Given the description of an element on the screen output the (x, y) to click on. 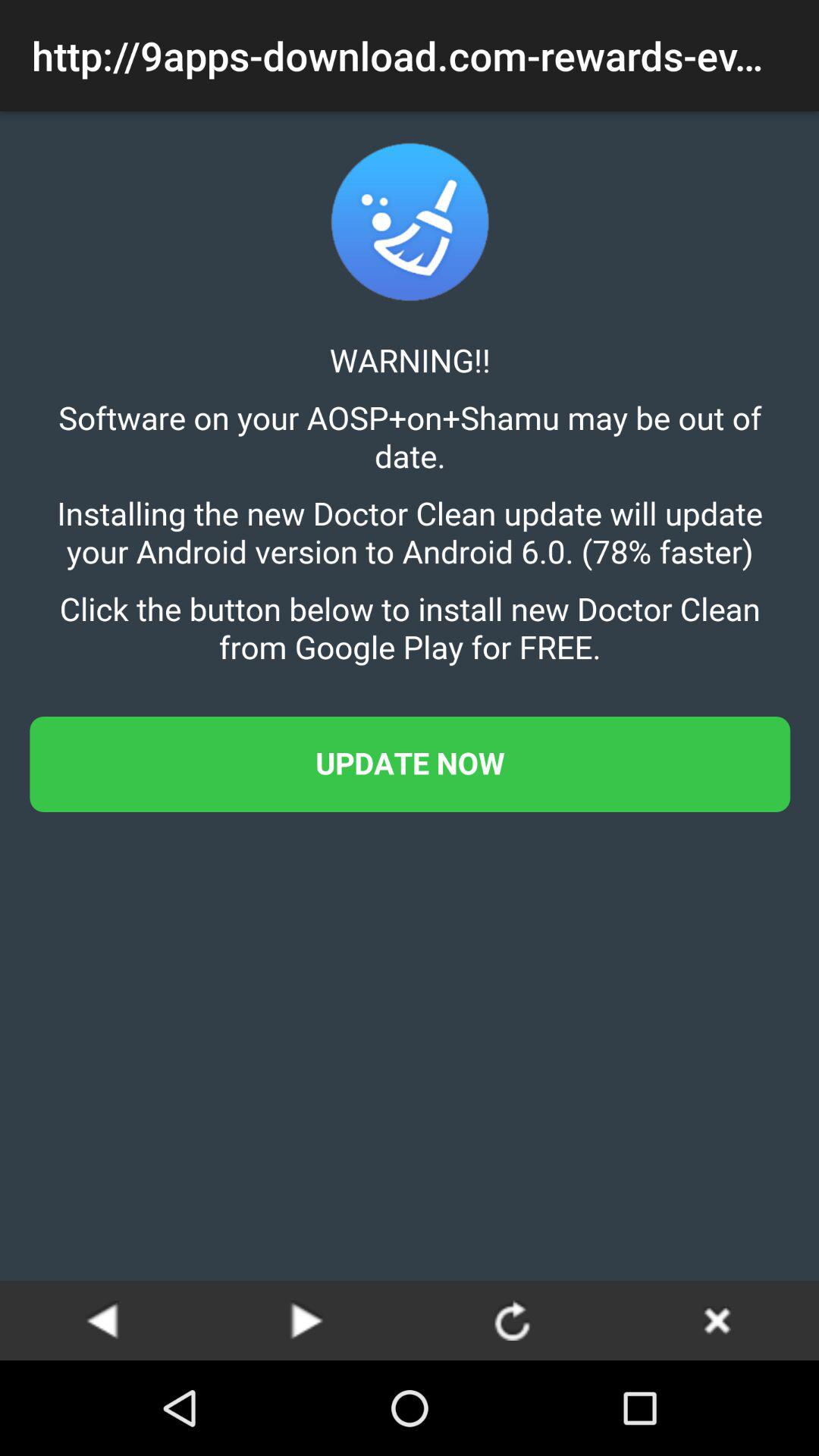
refresh the page (511, 1320)
